Given the description of an element on the screen output the (x, y) to click on. 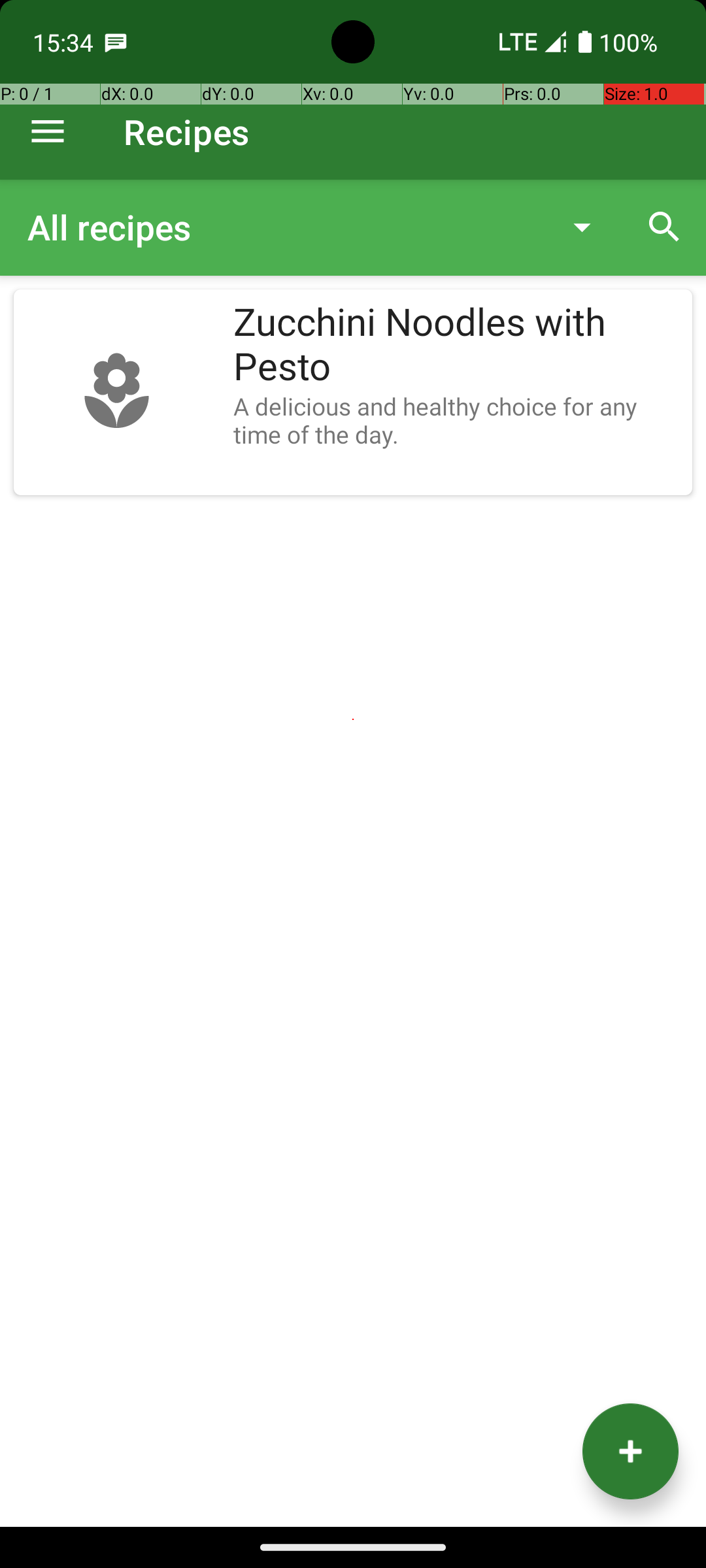
Zucchini Noodles with Pesto Element type: android.widget.TextView (455, 344)
